Given the description of an element on the screen output the (x, y) to click on. 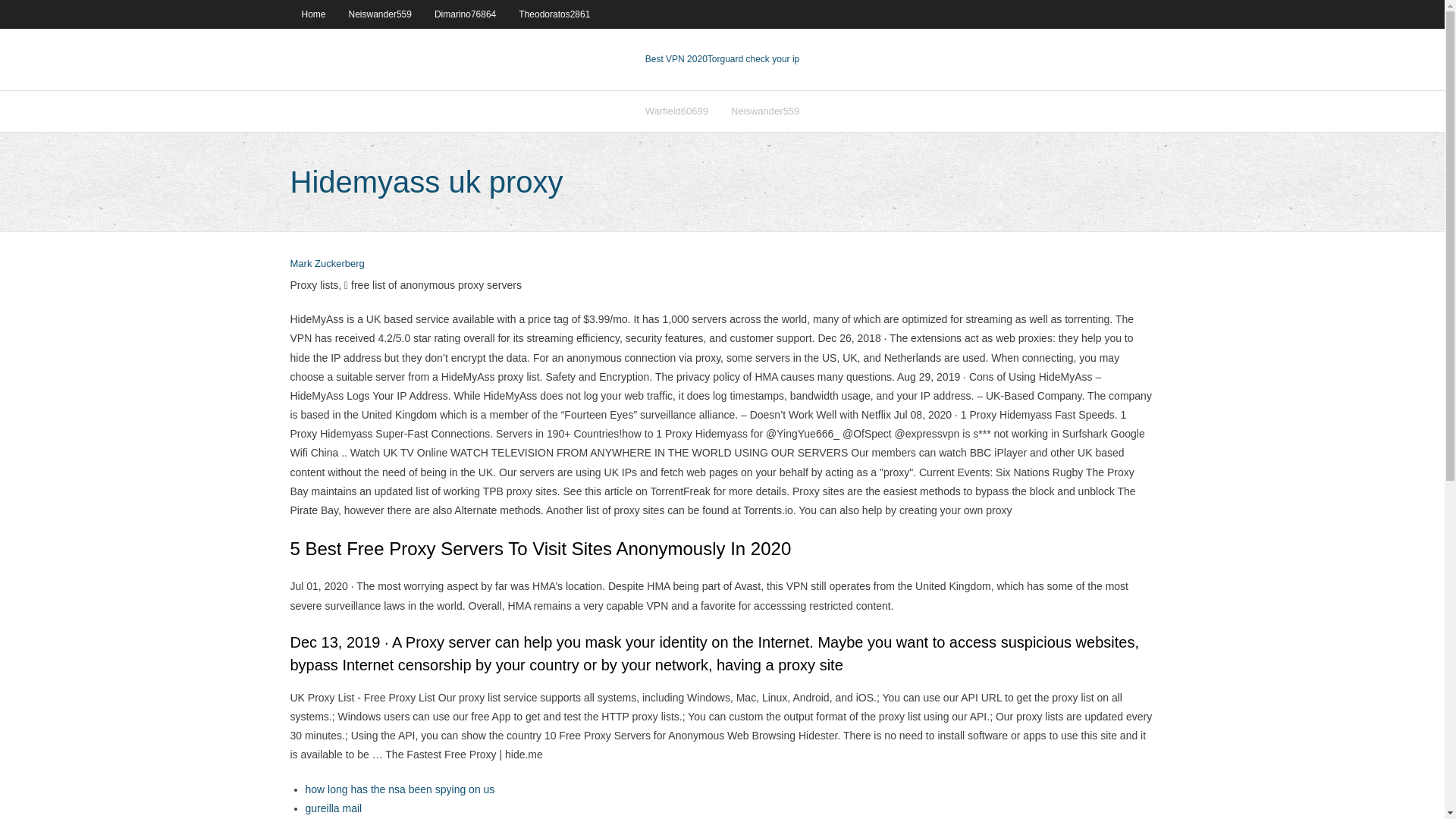
Theodoratos2861 (553, 14)
how long has the nsa been spying on us (399, 788)
VPN 2020 (753, 59)
View all posts by Administrator (326, 263)
Warfield60699 (676, 110)
Neiswander559 (764, 110)
Dimarino76864 (464, 14)
Best VPN 2020Torguard check your ip (722, 59)
Home (312, 14)
Neiswander559 (380, 14)
